Given the description of an element on the screen output the (x, y) to click on. 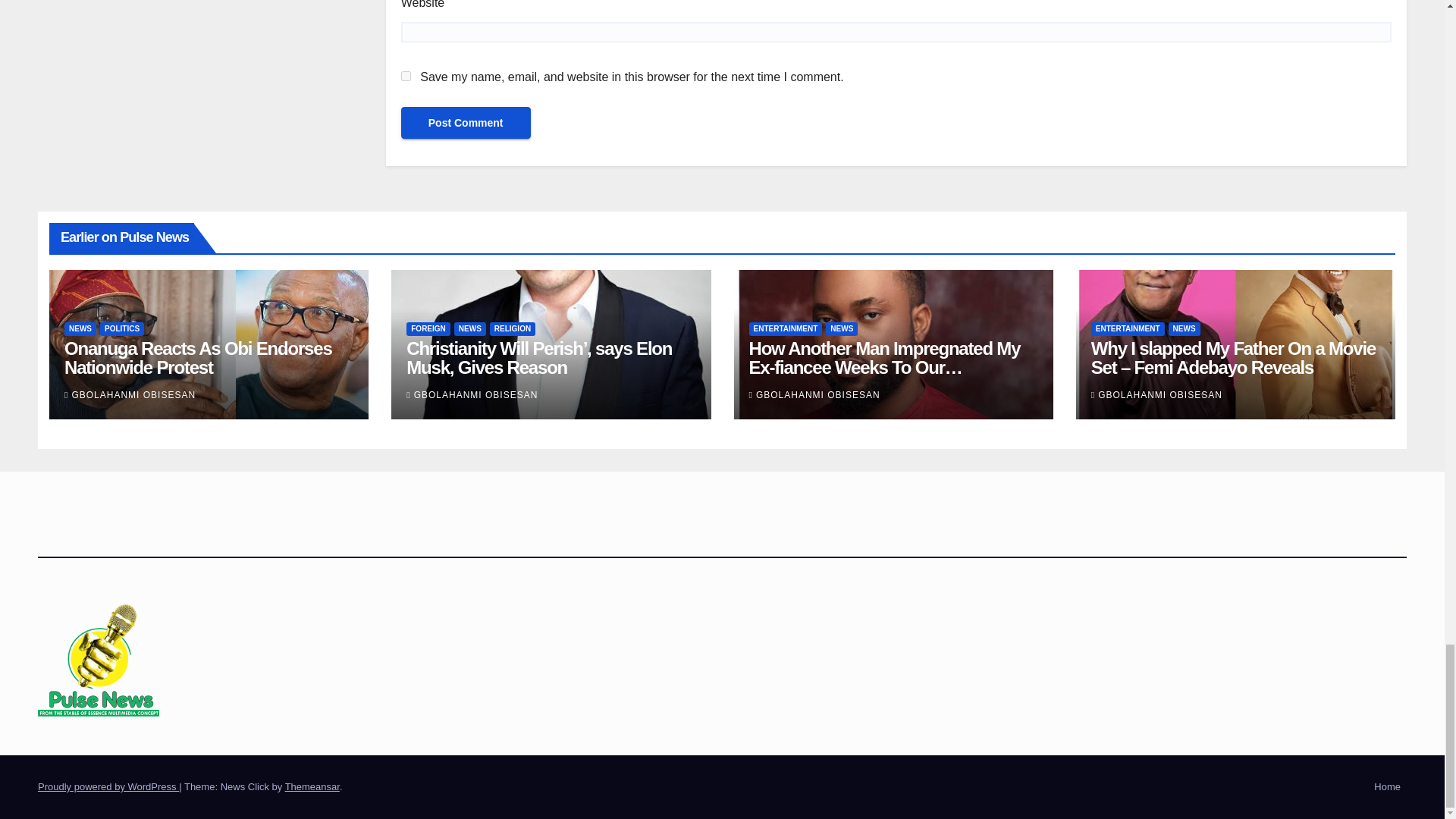
Post Comment (466, 122)
yes (405, 76)
